Given the description of an element on the screen output the (x, y) to click on. 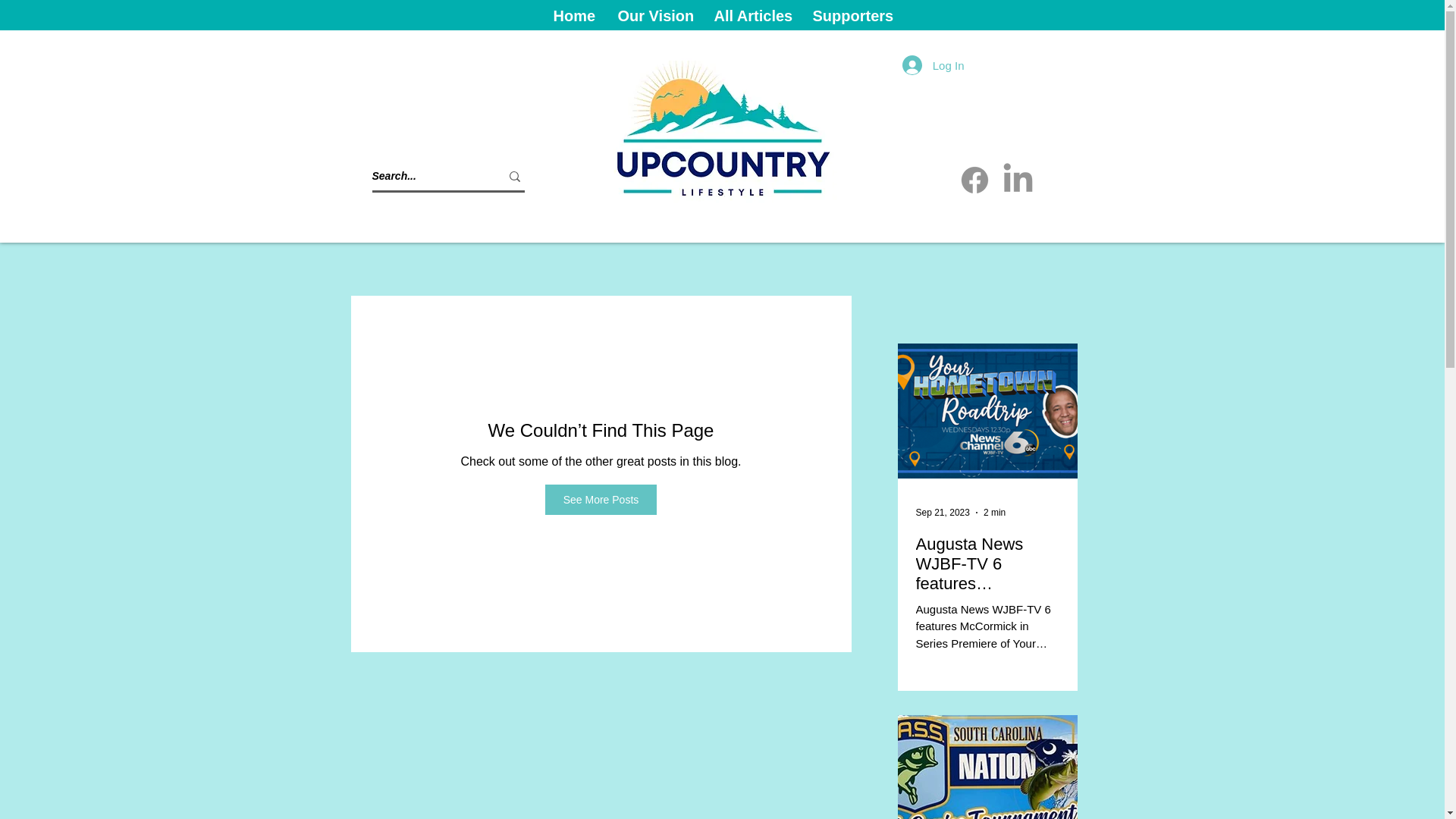
See More Posts (601, 499)
Supporters (851, 14)
Our Vision (655, 14)
2 min (995, 511)
All Articles (750, 14)
Log In (933, 64)
Home (573, 14)
Sep 21, 2023 (942, 511)
